Given the description of an element on the screen output the (x, y) to click on. 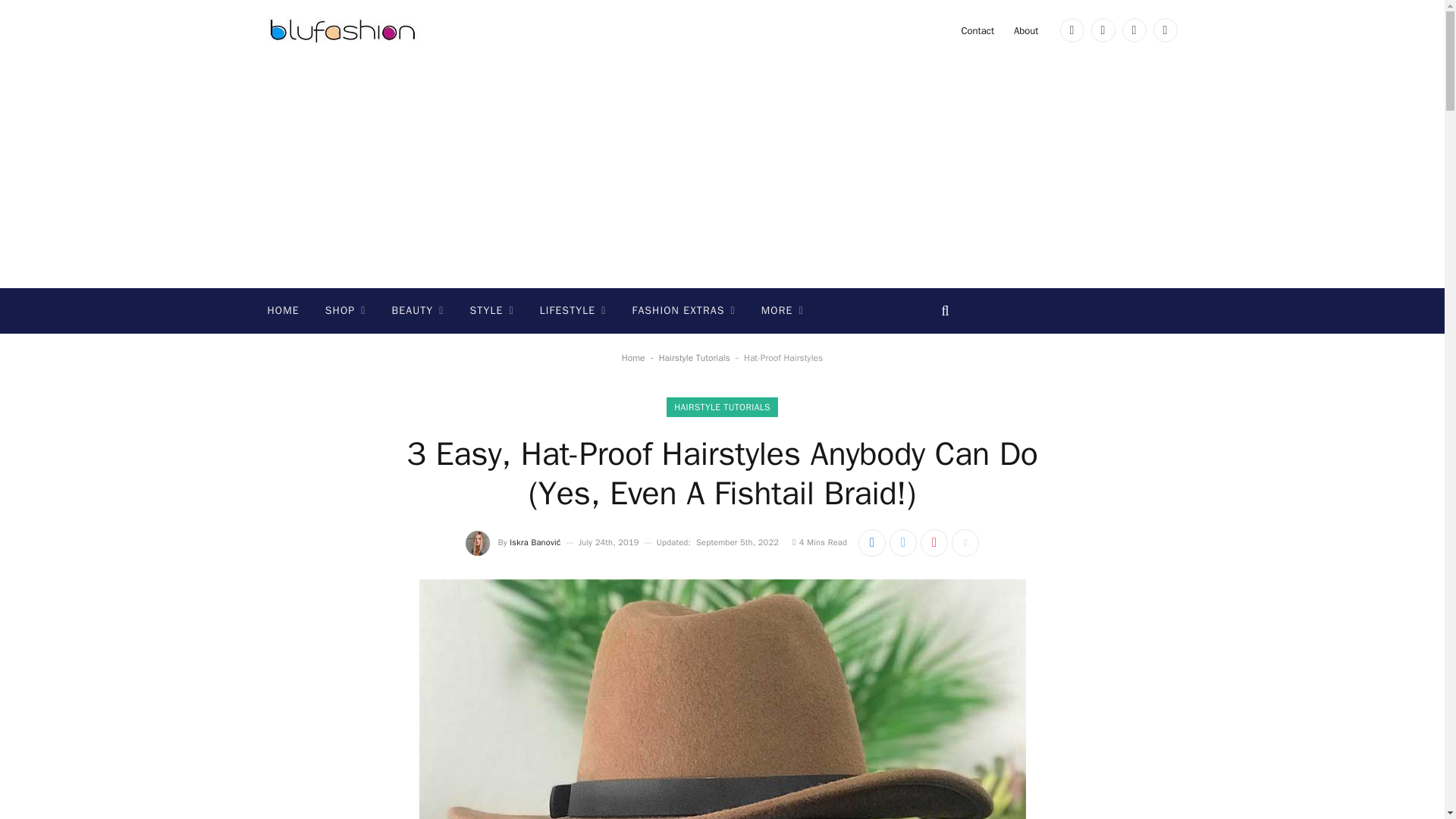
Share on Facebook (872, 542)
Blufashion.com (342, 30)
Share on Pinterest (933, 542)
Show More Social Sharing (965, 542)
